Given the description of an element on the screen output the (x, y) to click on. 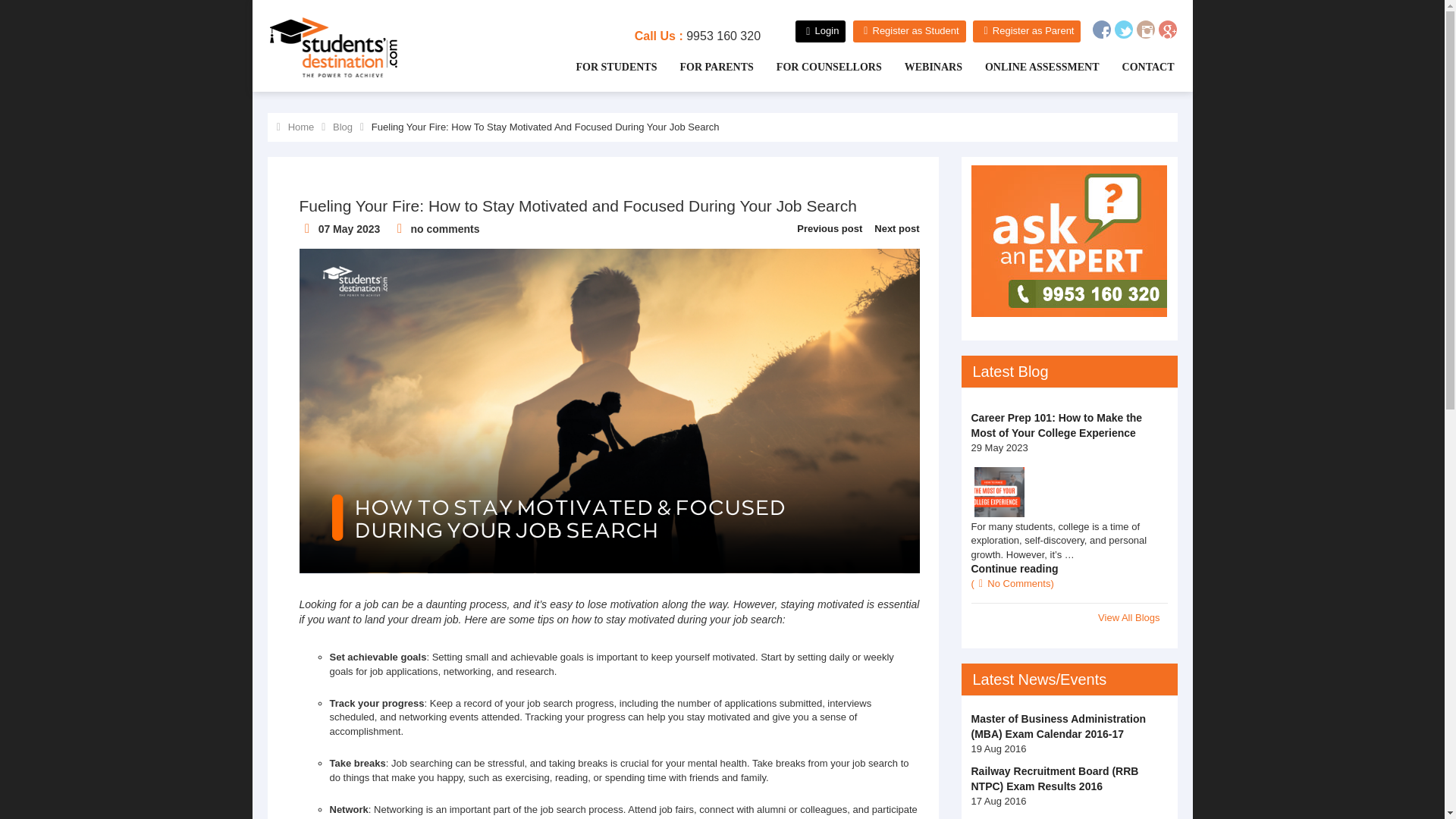
Register as Parent (1026, 31)
FOR COUNSELLORS (825, 66)
CONTACT (1145, 66)
FOR PARENTS (712, 66)
WEBINARS (929, 66)
Register as Student (909, 31)
ONLINE ASSESSMENT (1038, 66)
Login (819, 31)
